Given the description of an element on the screen output the (x, y) to click on. 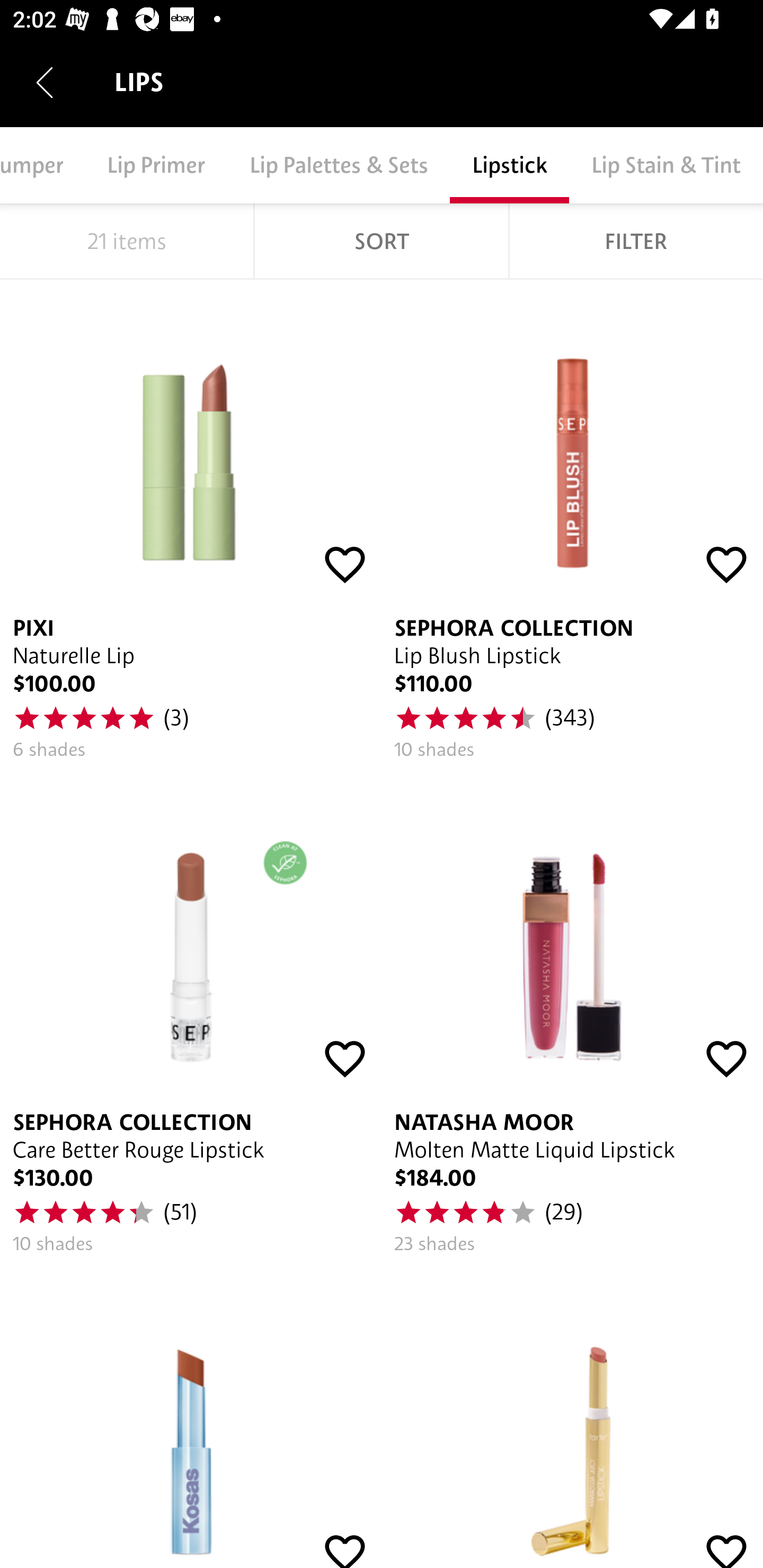
Navigate up (44, 82)
Lip Plumper (42, 165)
Lip Primer (156, 165)
Lip Palettes & Sets (338, 165)
Lip Stain & Tint (666, 165)
SORT (381, 241)
FILTER (636, 241)
PIXI Naturelle Lip $100.00 50.0 (3) 6 shades (190, 526)
